Given the description of an element on the screen output the (x, y) to click on. 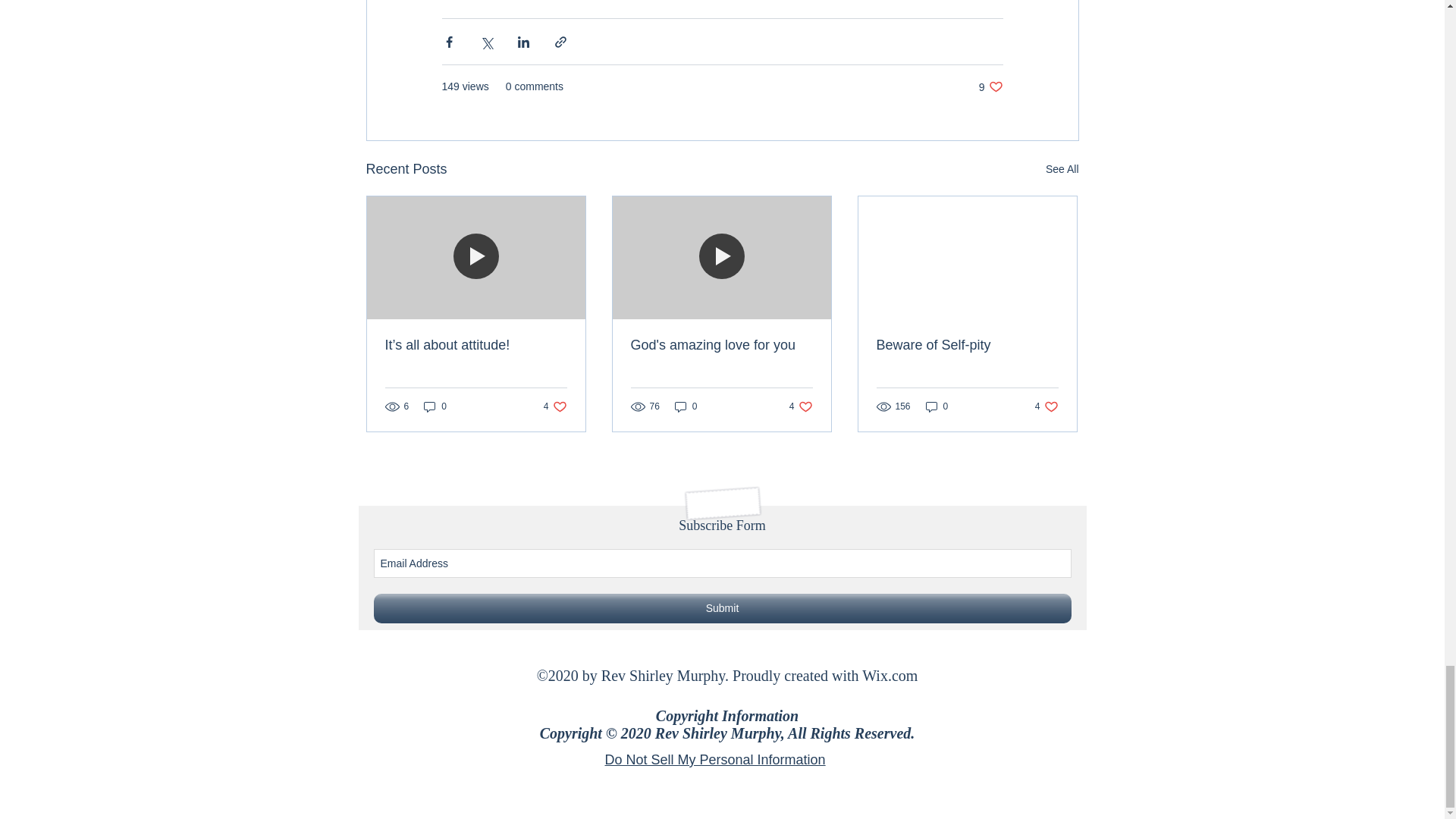
Beware of Self-pity (967, 344)
See All (1061, 169)
God's amazing love for you (721, 344)
0 (990, 86)
0 (685, 406)
0 (1046, 406)
